Given the description of an element on the screen output the (x, y) to click on. 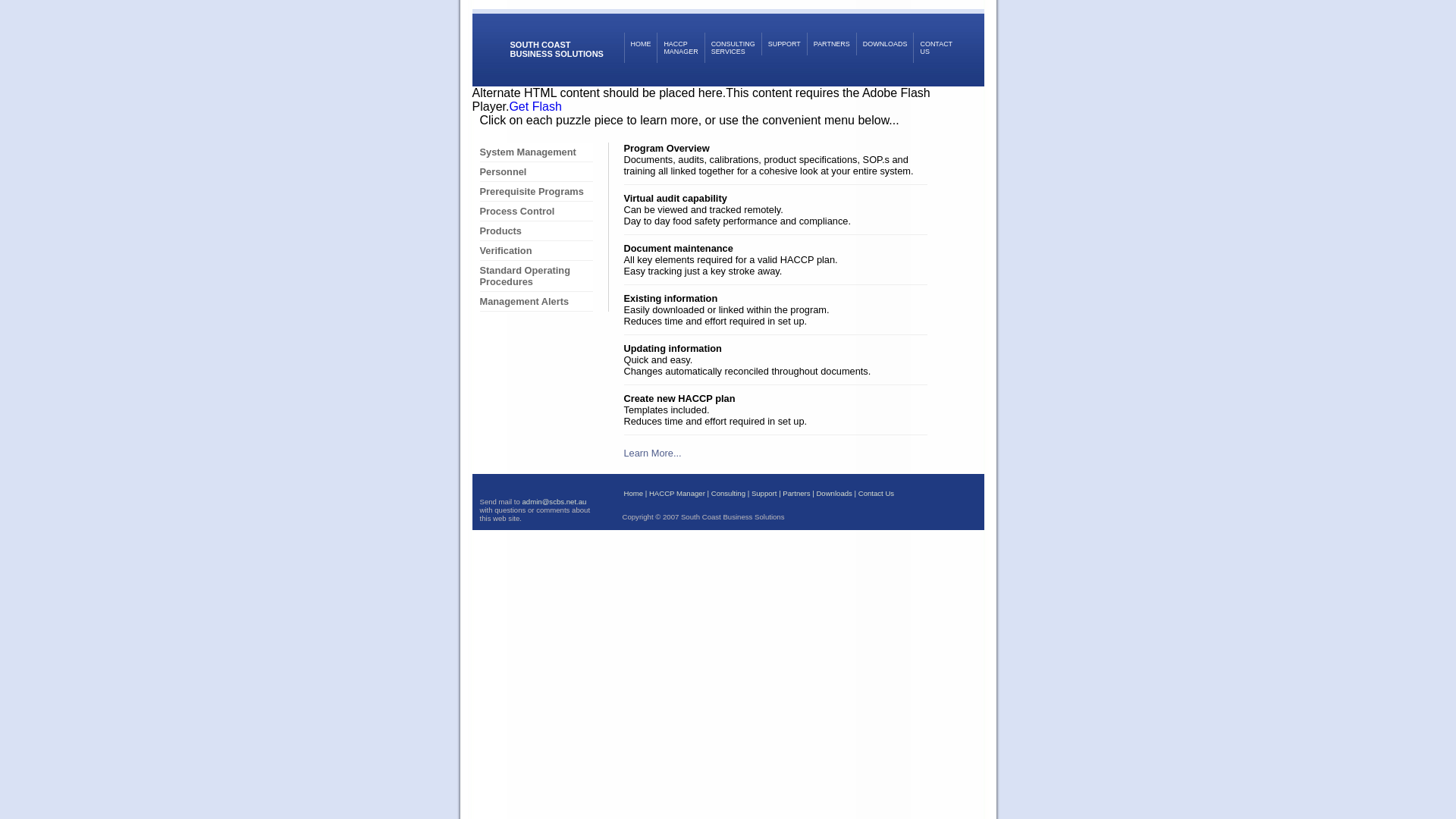
admin@scbs.net.au Element type: text (553, 501)
SUPPORT Element type: text (783, 43)
Process Control Element type: text (535, 211)
System Management Element type: text (535, 152)
DOWNLOADS Element type: text (884, 43)
HACCP Manager Element type: text (677, 493)
HACCP
MANAGER Element type: text (679, 47)
Prerequisite Programs Element type: text (535, 191)
CONSULTING
SERVICES Element type: text (732, 47)
Get Flash Element type: text (534, 106)
CONTACT
US Element type: text (935, 47)
HOME
  Element type: text (639, 47)
Contact Us Element type: text (876, 493)
Products Element type: text (535, 231)
Personnel Element type: text (535, 172)
Learn More... Element type: text (651, 452)
Standard Operating Procedures Element type: text (535, 275)
Downloads Element type: text (833, 493)
Support Element type: text (764, 493)
Consulting Element type: text (728, 493)
Management Alerts Element type: text (535, 301)
Home Element type: text (633, 493)
Partners Element type: text (795, 493)
PARTNERS Element type: text (831, 43)
Verification Element type: text (535, 250)
